Given the description of an element on the screen output the (x, y) to click on. 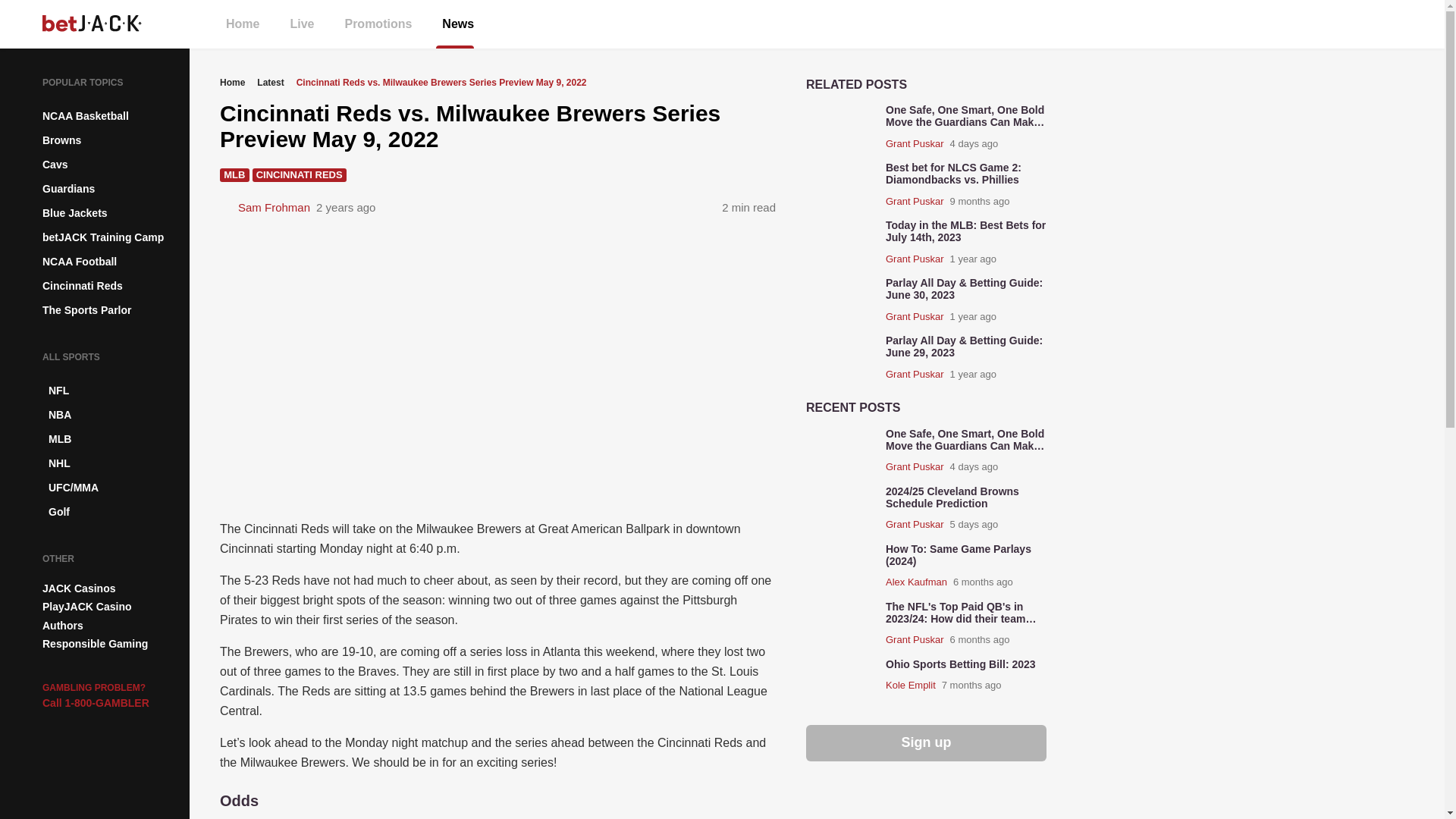
Guardians (109, 188)
News (466, 24)
Live (310, 24)
NCAA Football (109, 261)
Blue Jackets (109, 212)
NCAA Basketball (109, 115)
betJACK Training Camp (109, 237)
Promotions (386, 24)
Cavs (109, 164)
Home (251, 24)
Browns (109, 139)
